Given the description of an element on the screen output the (x, y) to click on. 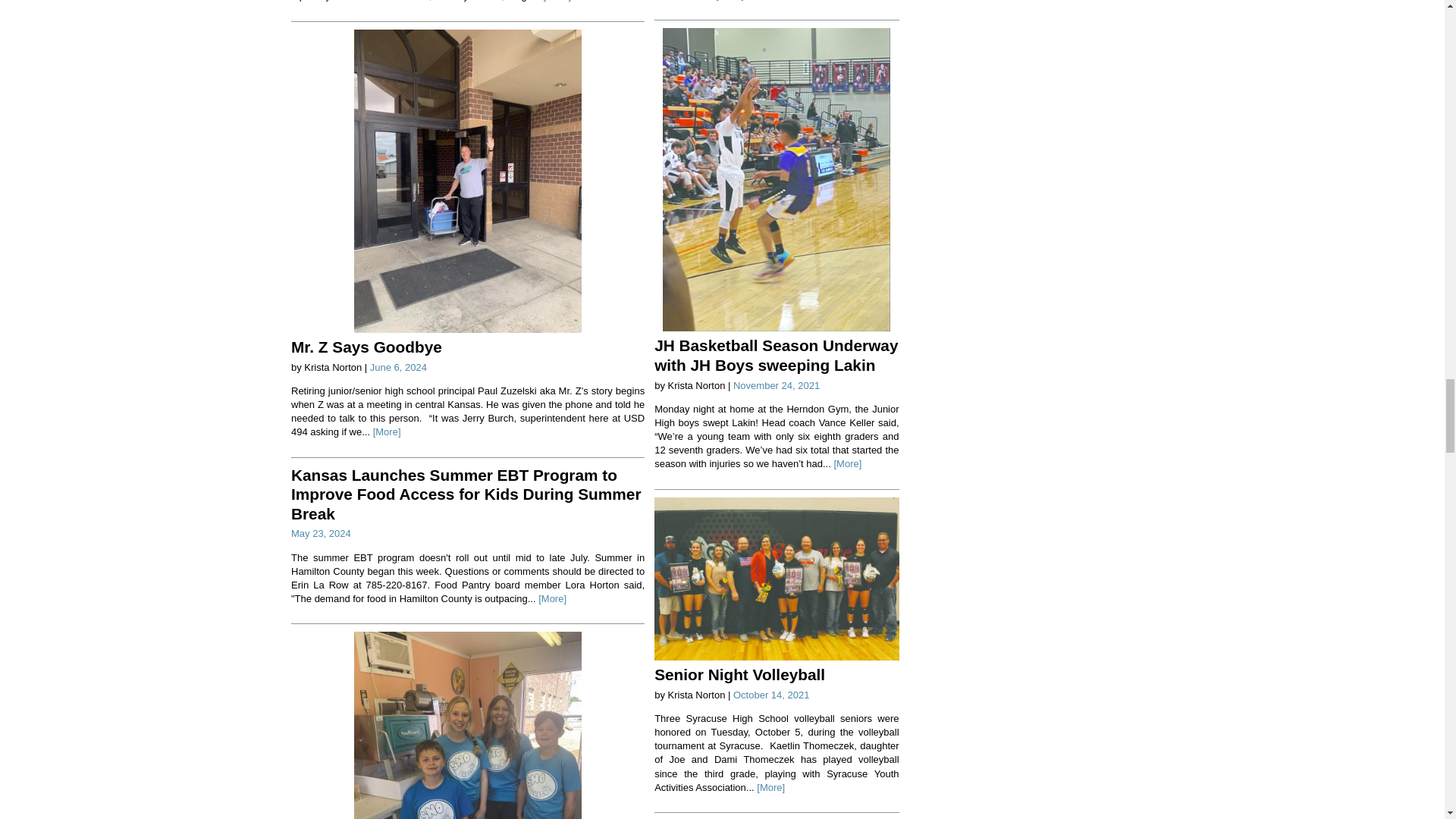
Mr. Z Says Goodbye (366, 346)
